Given the description of an element on the screen output the (x, y) to click on. 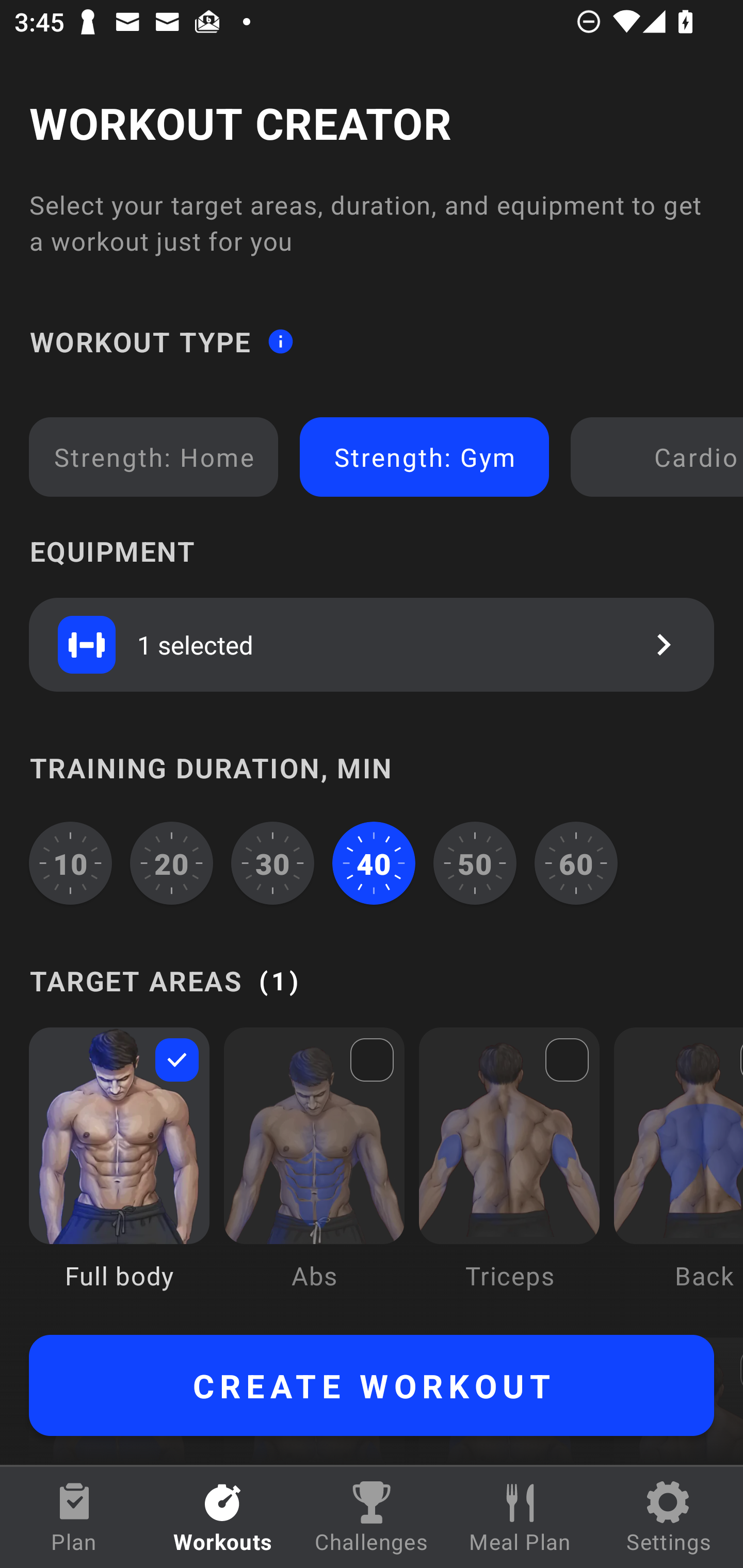
Workout type information button (280, 340)
Strength: Home (153, 457)
Cardio (660, 457)
1 selected (371, 644)
10 (70, 863)
20 (171, 863)
30 (272, 863)
40 (373, 863)
50 (474, 863)
60 (575, 863)
Abs (313, 1172)
Triceps (509, 1172)
Back (678, 1172)
CREATE WORKOUT (371, 1385)
 Plan  (74, 1517)
 Challenges  (371, 1517)
 Meal Plan  (519, 1517)
 Settings  (668, 1517)
